Given the description of an element on the screen output the (x, y) to click on. 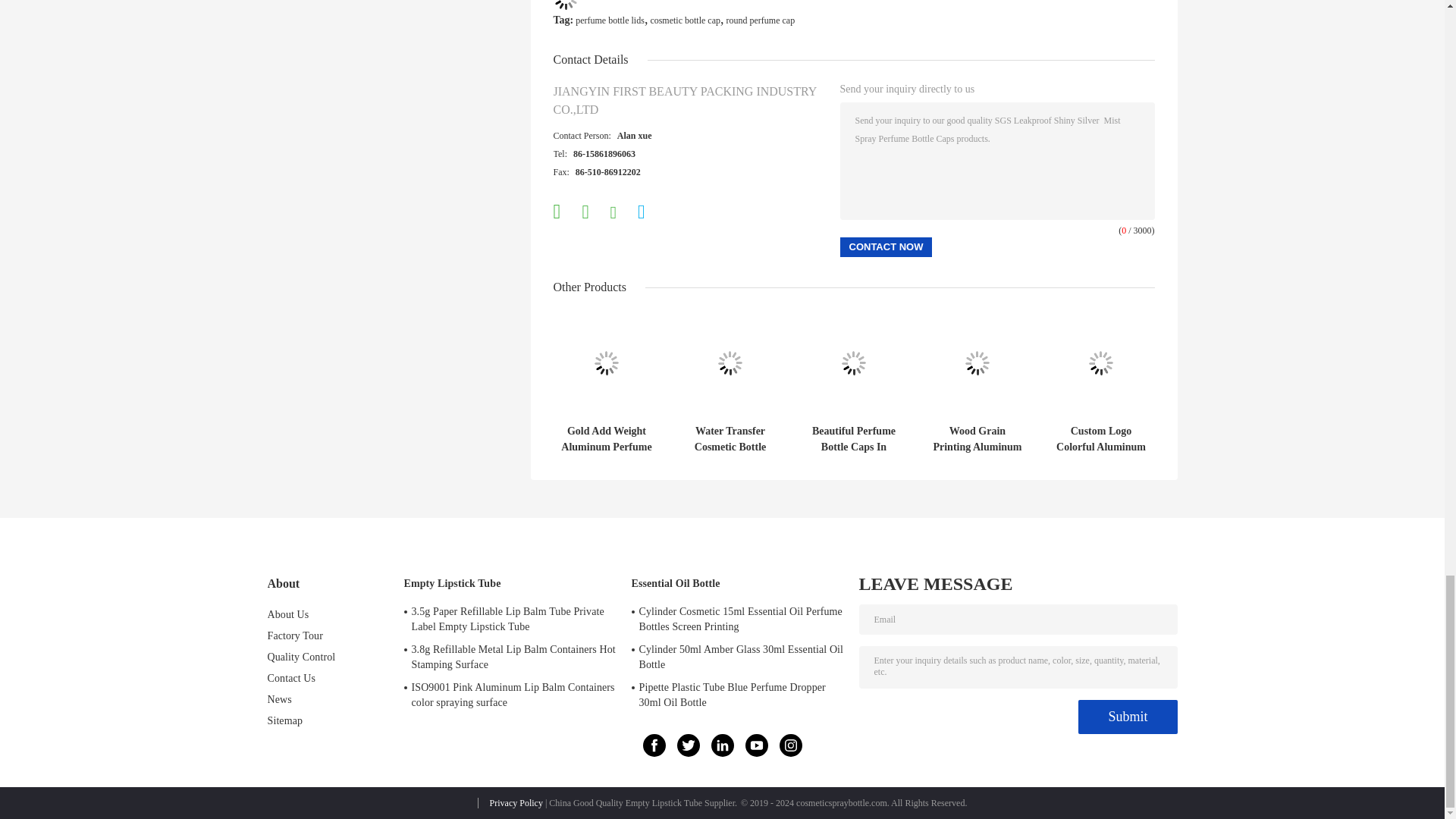
Contact Now (886, 247)
Submit (1127, 716)
